Given the description of an element on the screen output the (x, y) to click on. 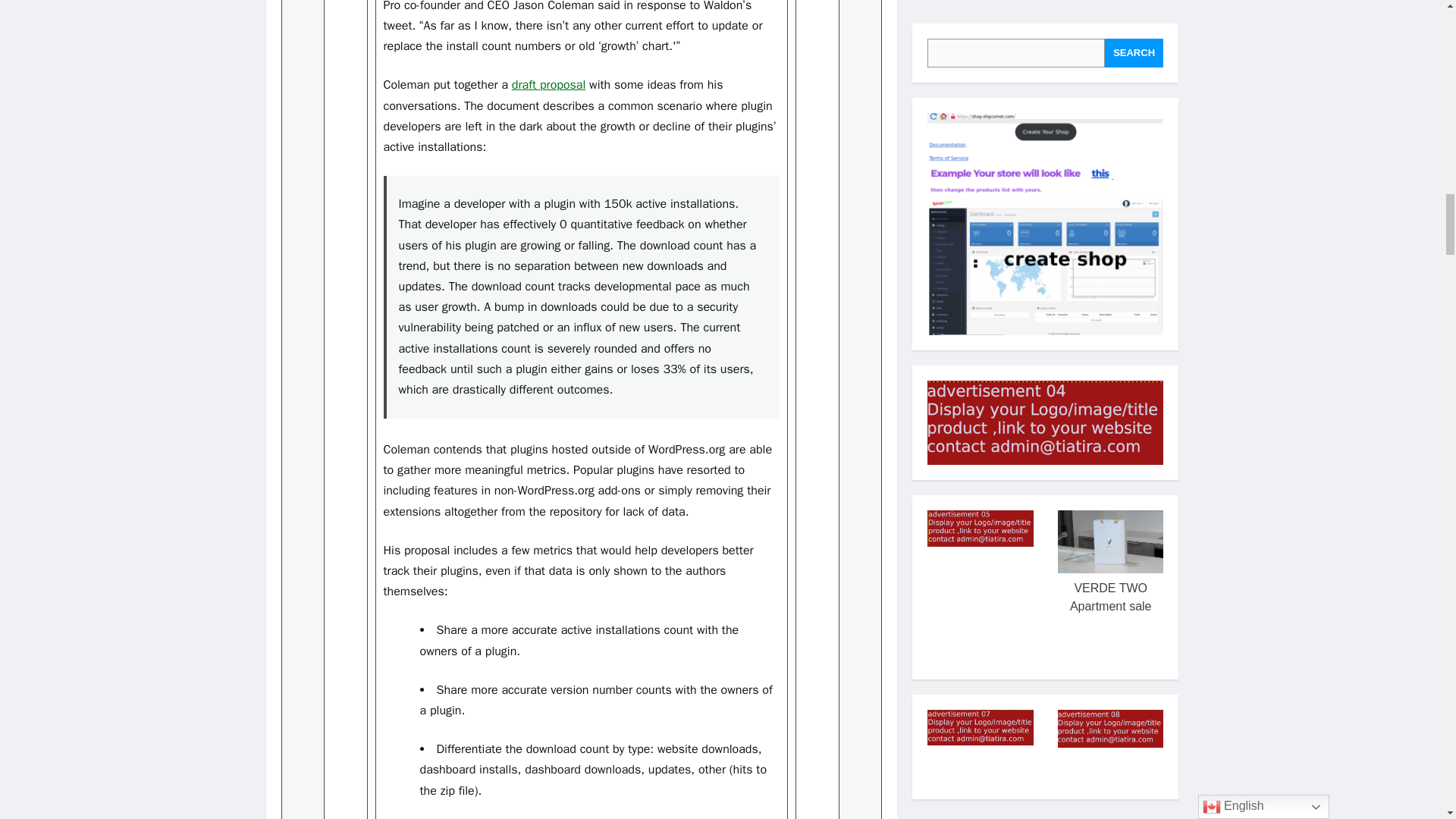
draft proposal (548, 84)
